Given the description of an element on the screen output the (x, y) to click on. 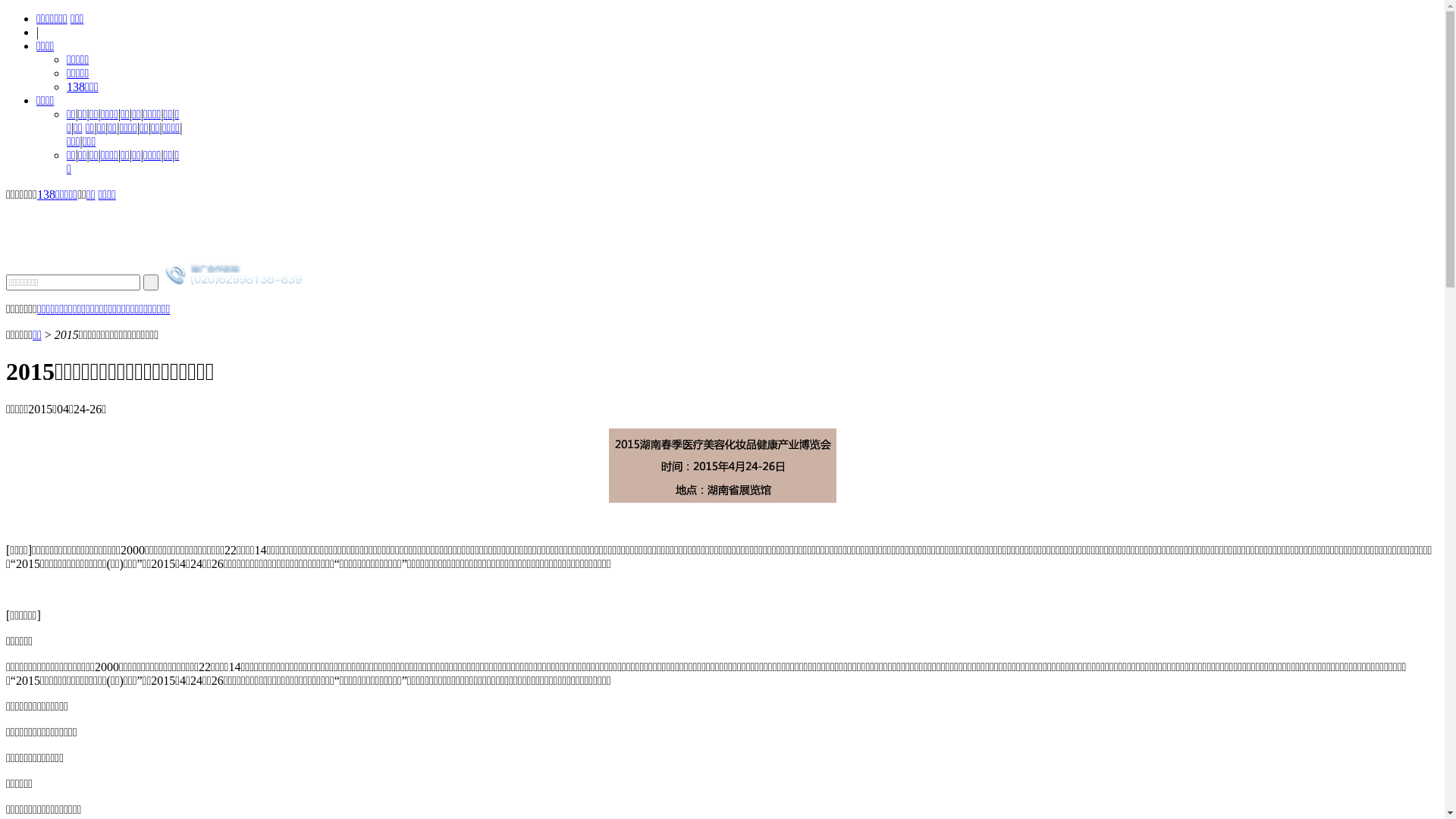
  Element type: text (150, 282)
